Given the description of an element on the screen output the (x, y) to click on. 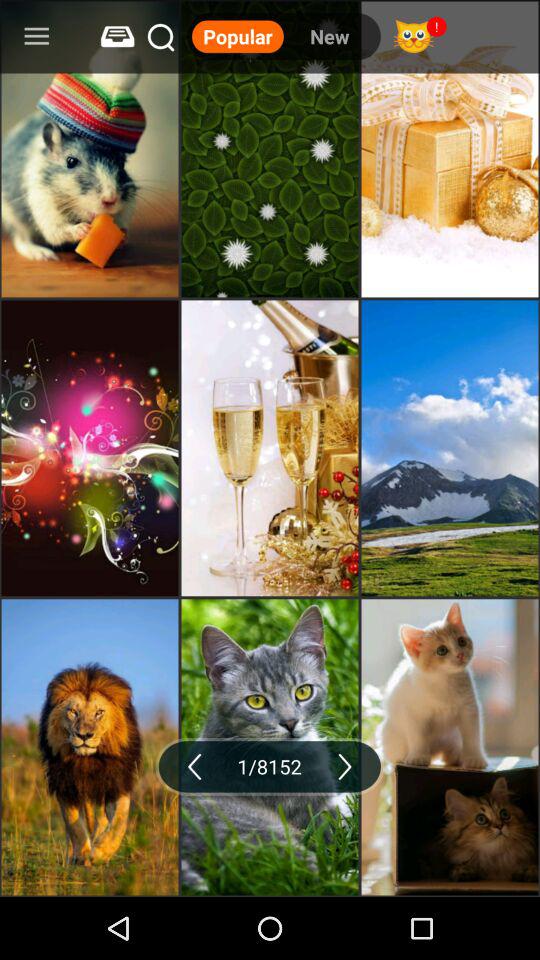
swipe until new item (329, 36)
